Given the description of an element on the screen output the (x, y) to click on. 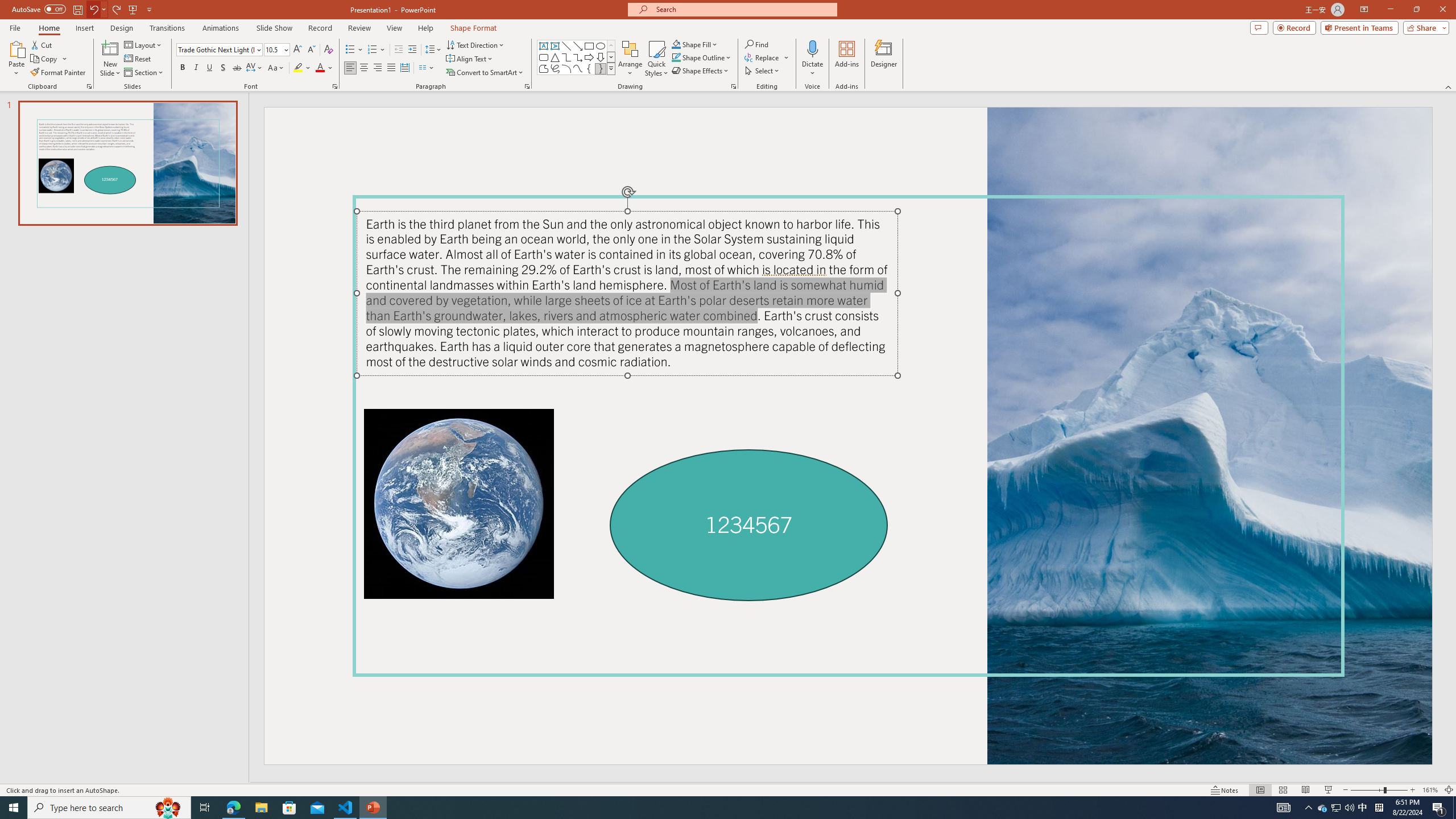
Row Down (611, 56)
Line Arrow (577, 45)
Oval (600, 45)
Line Spacing (433, 49)
Cut (42, 44)
Arrow: Right (589, 57)
Connector: Elbow Arrow (577, 57)
Section (144, 72)
Center (363, 67)
Shapes (611, 68)
